Given the description of an element on the screen output the (x, y) to click on. 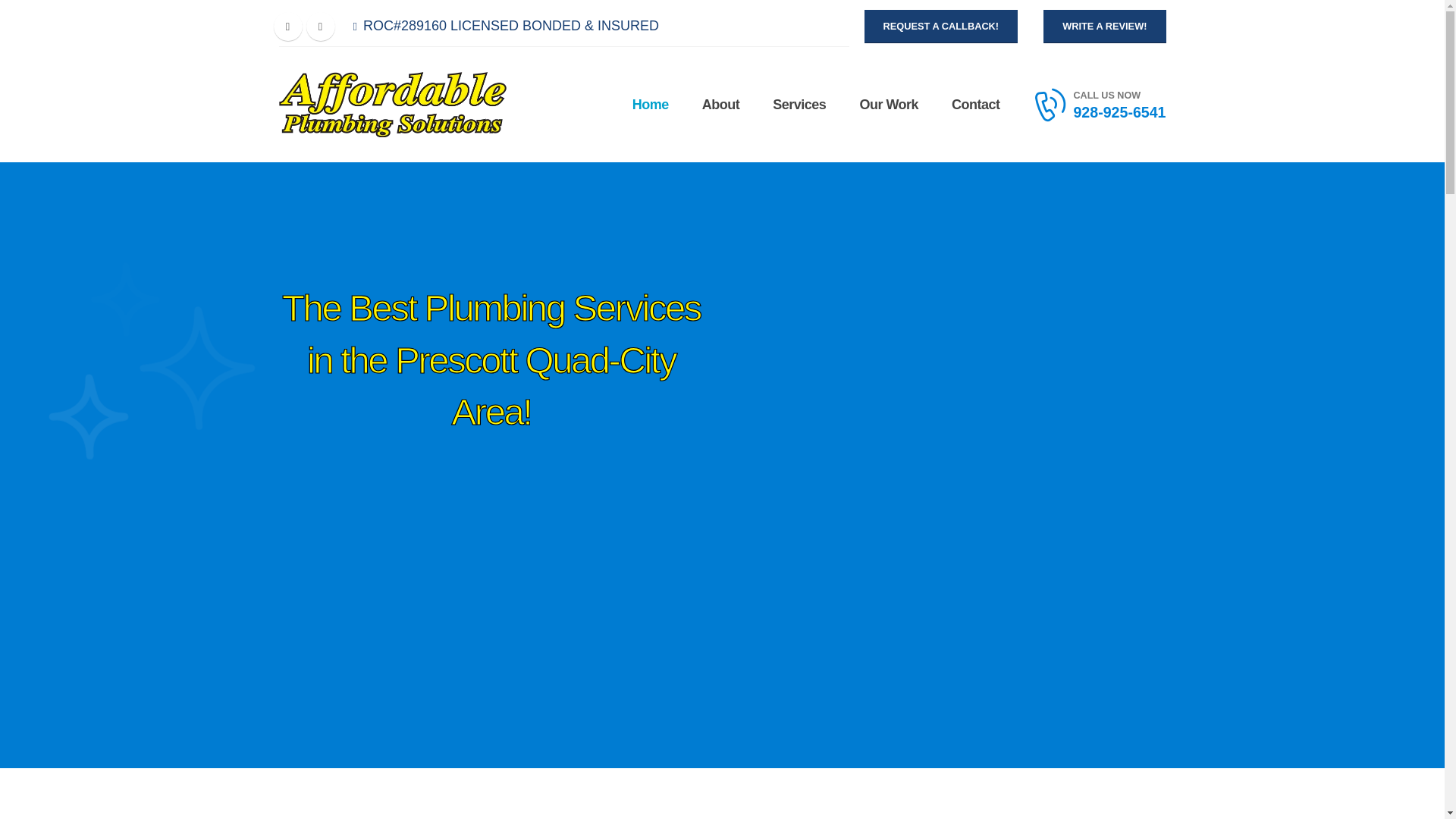
Yelp (319, 26)
BOOK NOW (325, 655)
About Us (539, 624)
WRITE A REVIEW! (1104, 26)
CALL US NOW (1119, 95)
Write a Review! (1104, 26)
Our Work (888, 104)
Services (800, 104)
Facebook (287, 26)
tel (1119, 95)
